Given the description of an element on the screen output the (x, y) to click on. 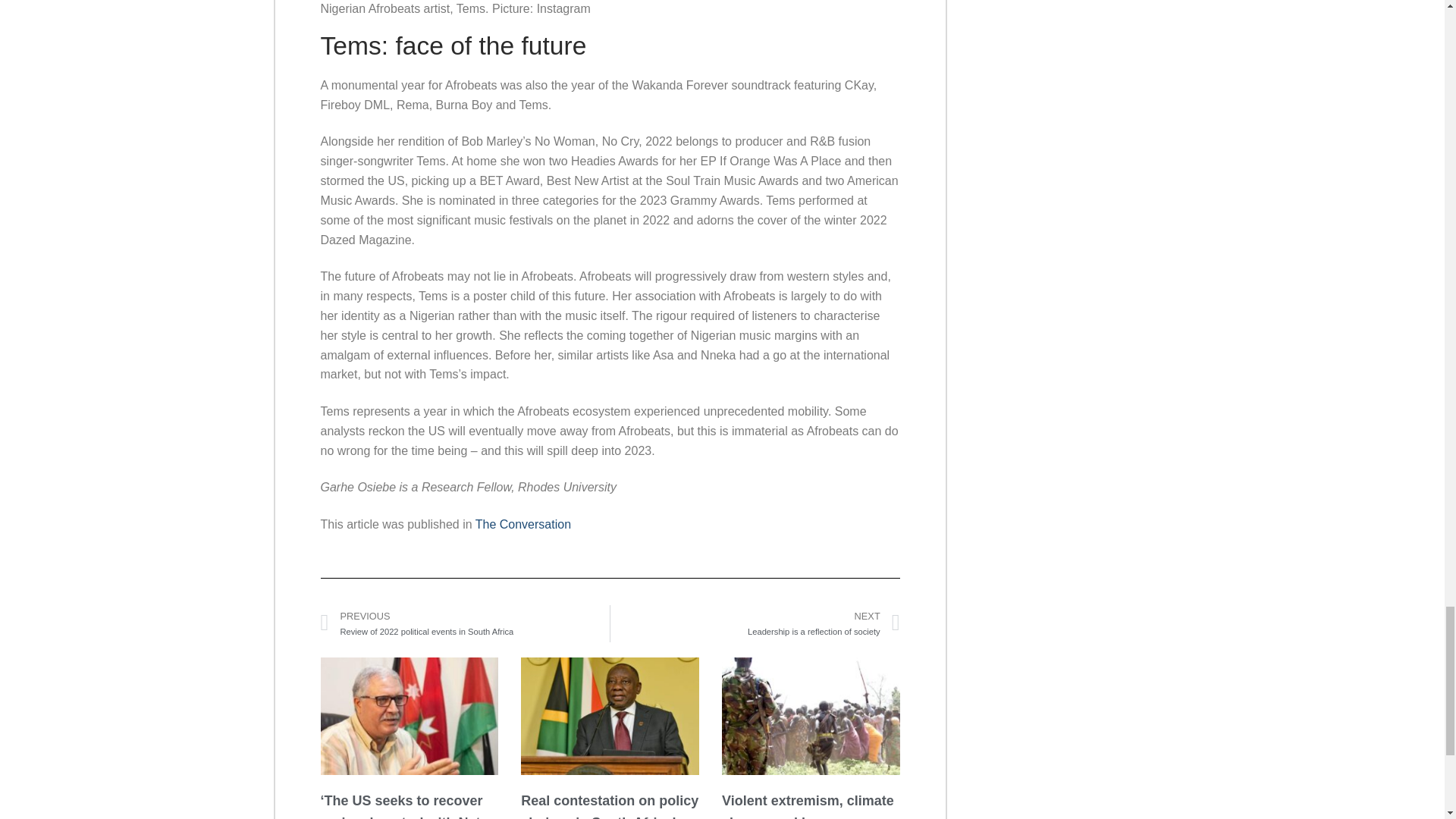
The Conversation (523, 523)
The Conversation (523, 523)
Violent extremism, climate change and human security (754, 623)
